Given the description of an element on the screen output the (x, y) to click on. 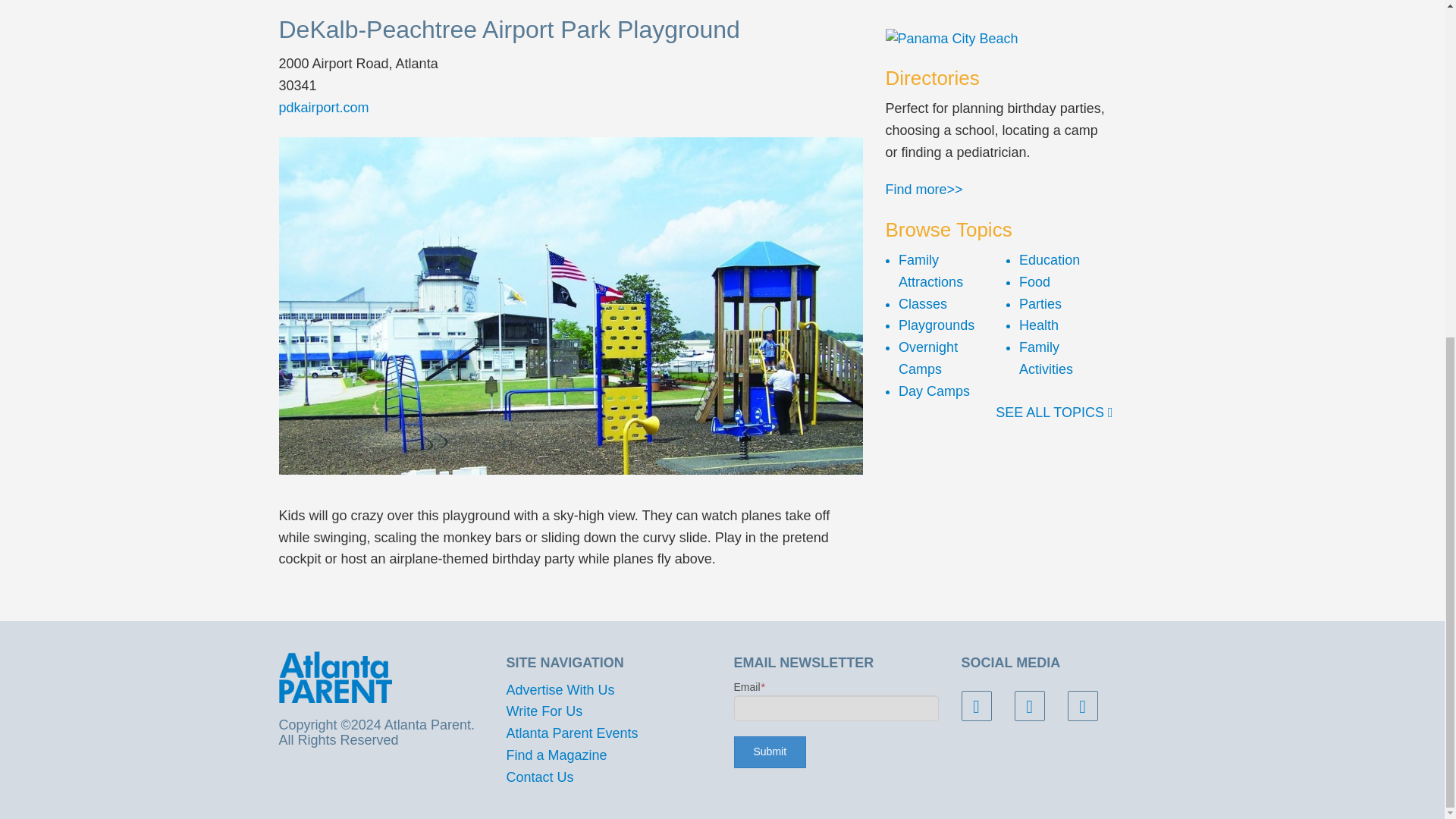
Panama City Beach  (999, 38)
Atlanta Parent (335, 676)
Submit (769, 752)
